Given the description of an element on the screen output the (x, y) to click on. 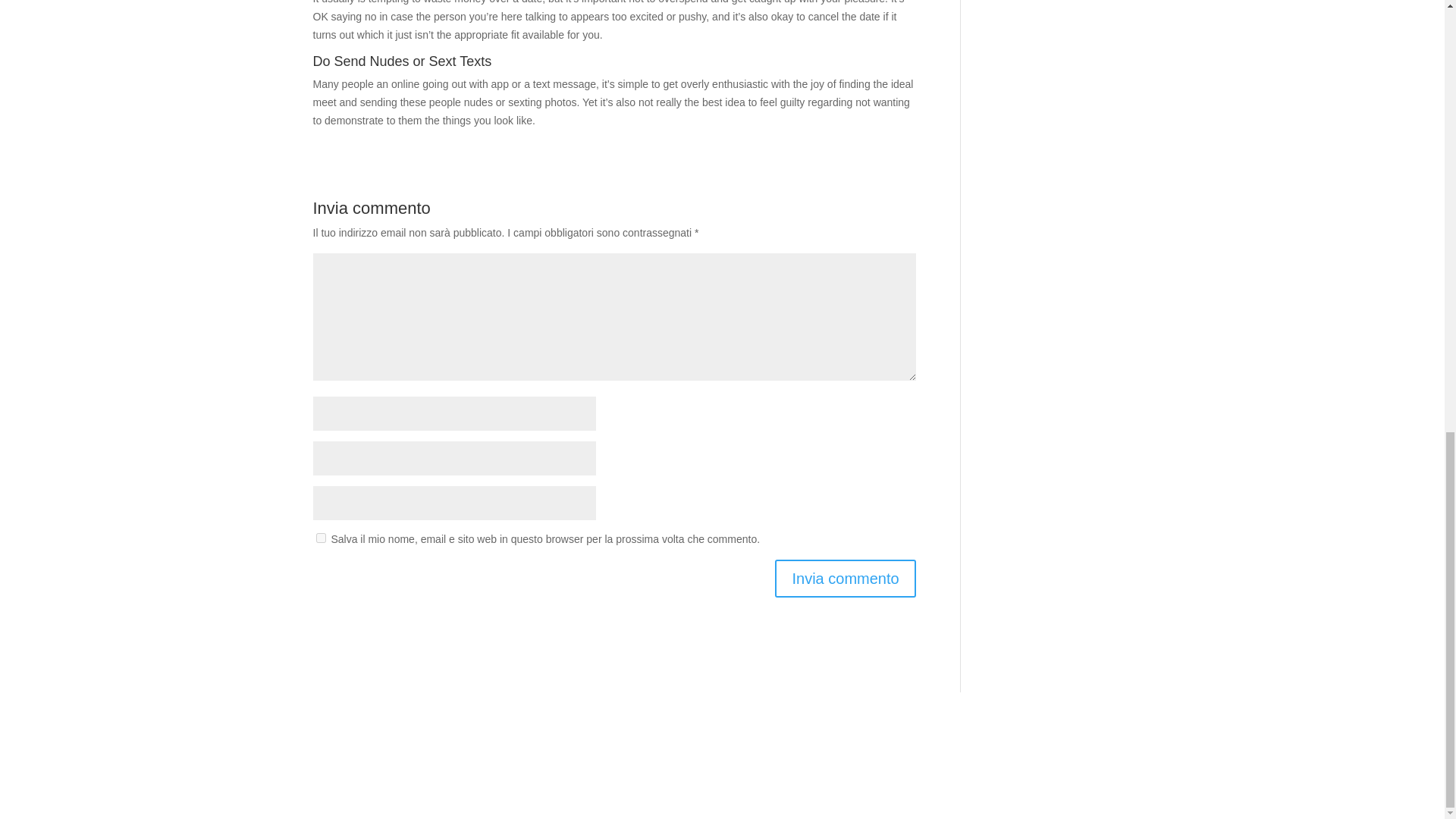
yes (319, 537)
Invia commento (844, 578)
Invia commento (844, 578)
